Given the description of an element on the screen output the (x, y) to click on. 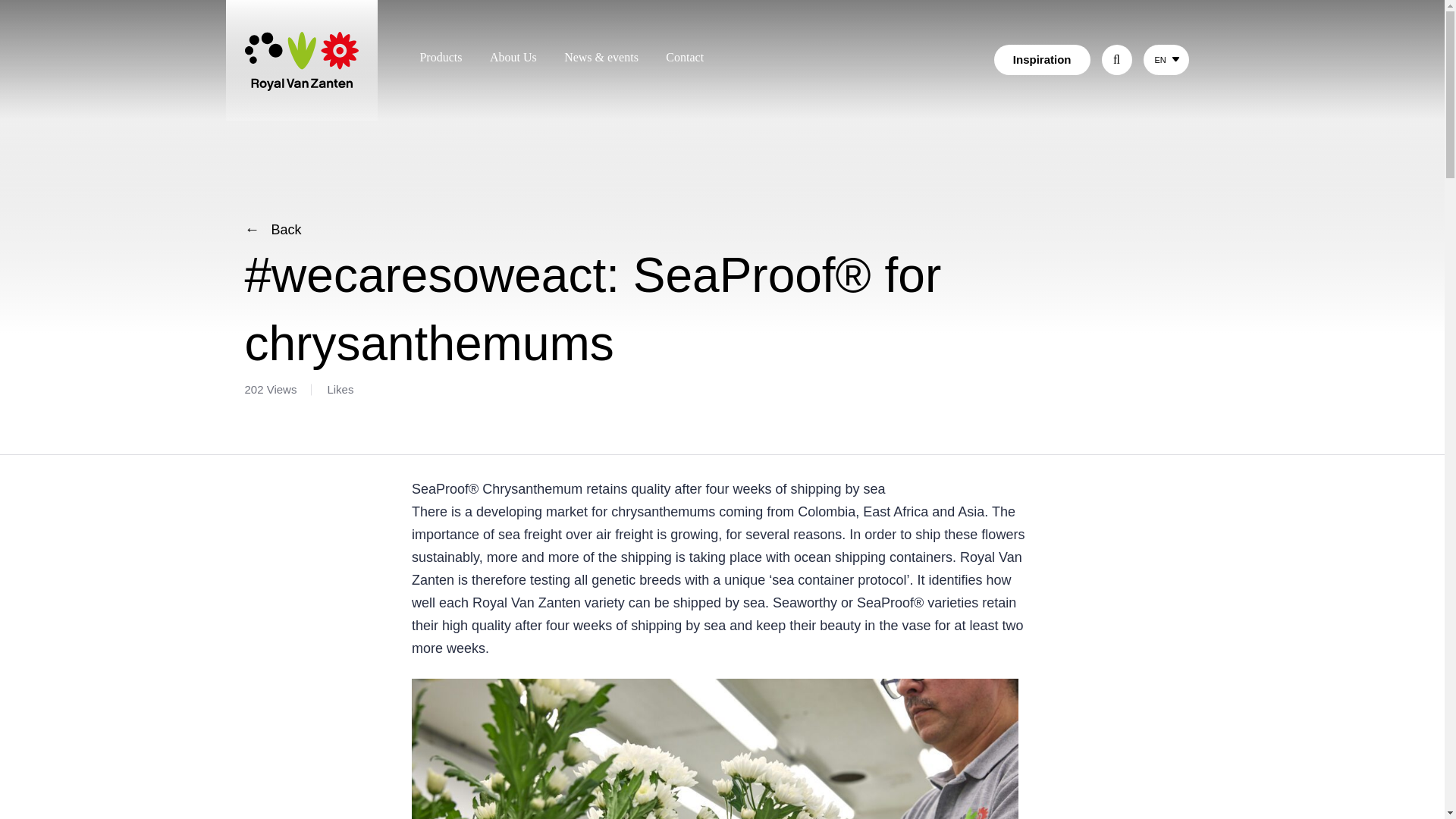
About Us (513, 57)
Back (272, 229)
EN (1159, 60)
Inspiration (1042, 60)
Search (1068, 58)
Contact (684, 57)
Products (440, 57)
